Given the description of an element on the screen output the (x, y) to click on. 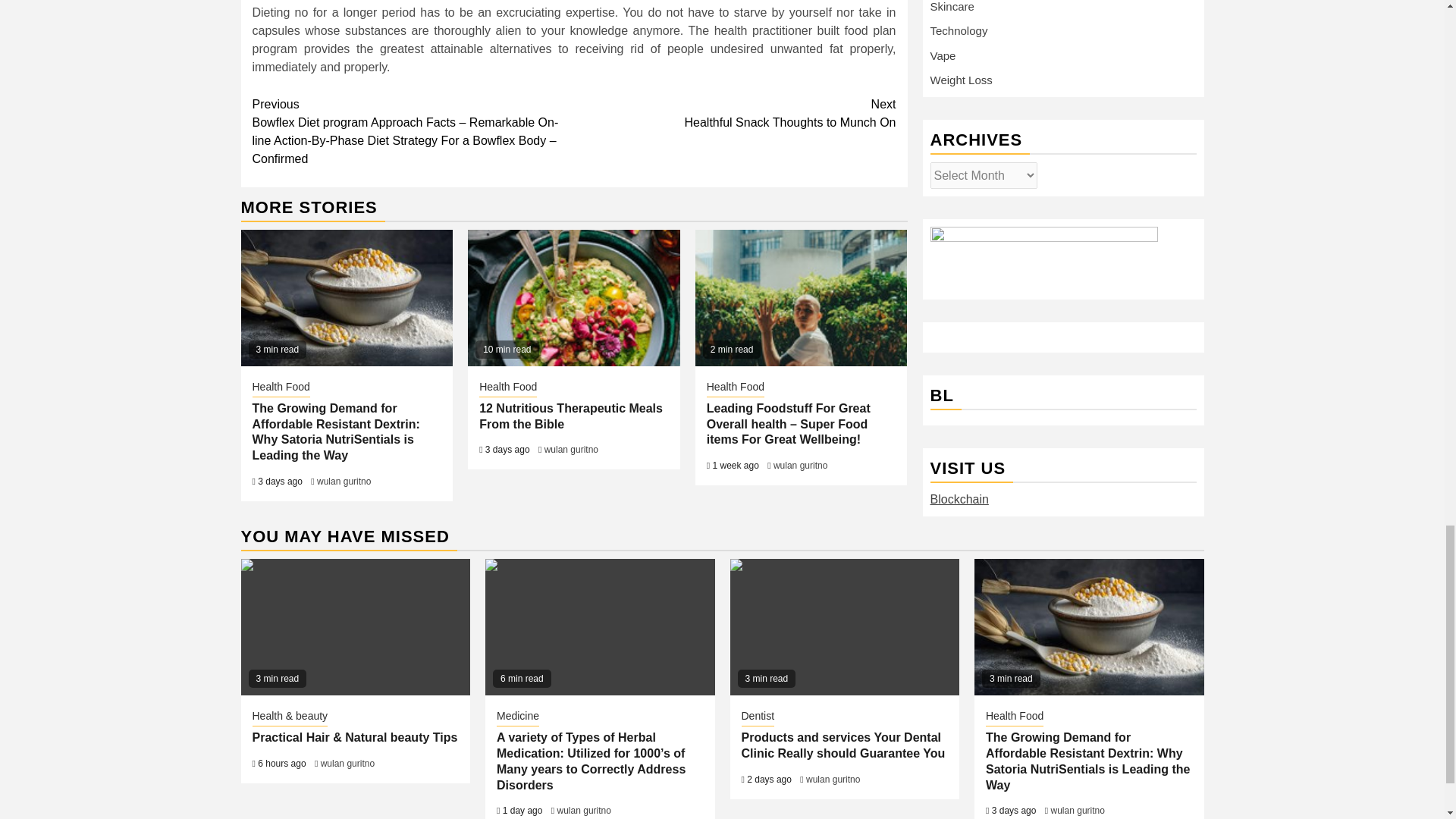
Health Food (279, 388)
Health Food (735, 388)
wulan guritno (571, 449)
12 Nutritious Therapeutic Meals From the Bible (734, 113)
Health Food (570, 416)
